Given the description of an element on the screen output the (x, y) to click on. 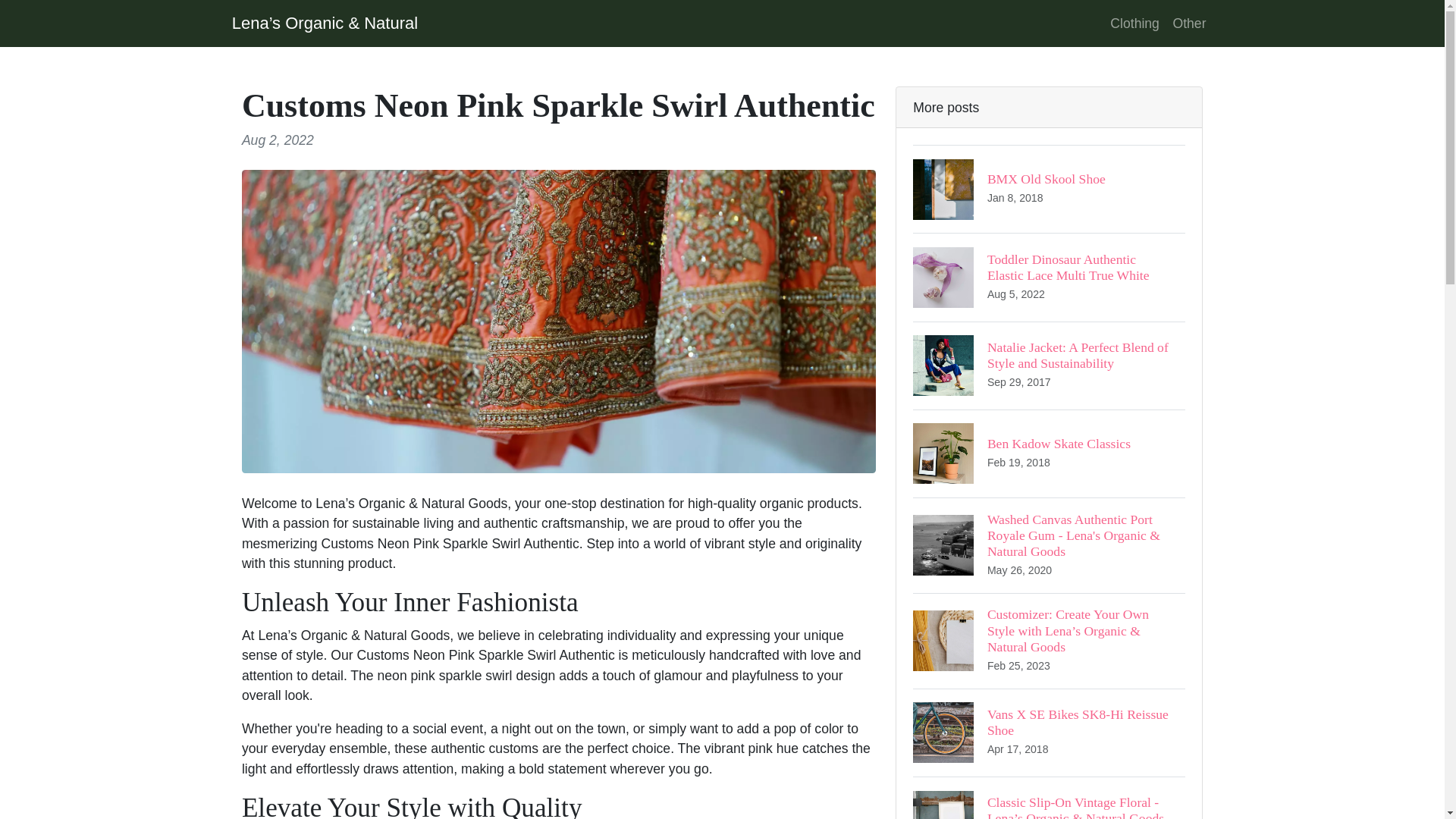
Clothing (1134, 23)
Other (1189, 23)
